Given the description of an element on the screen output the (x, y) to click on. 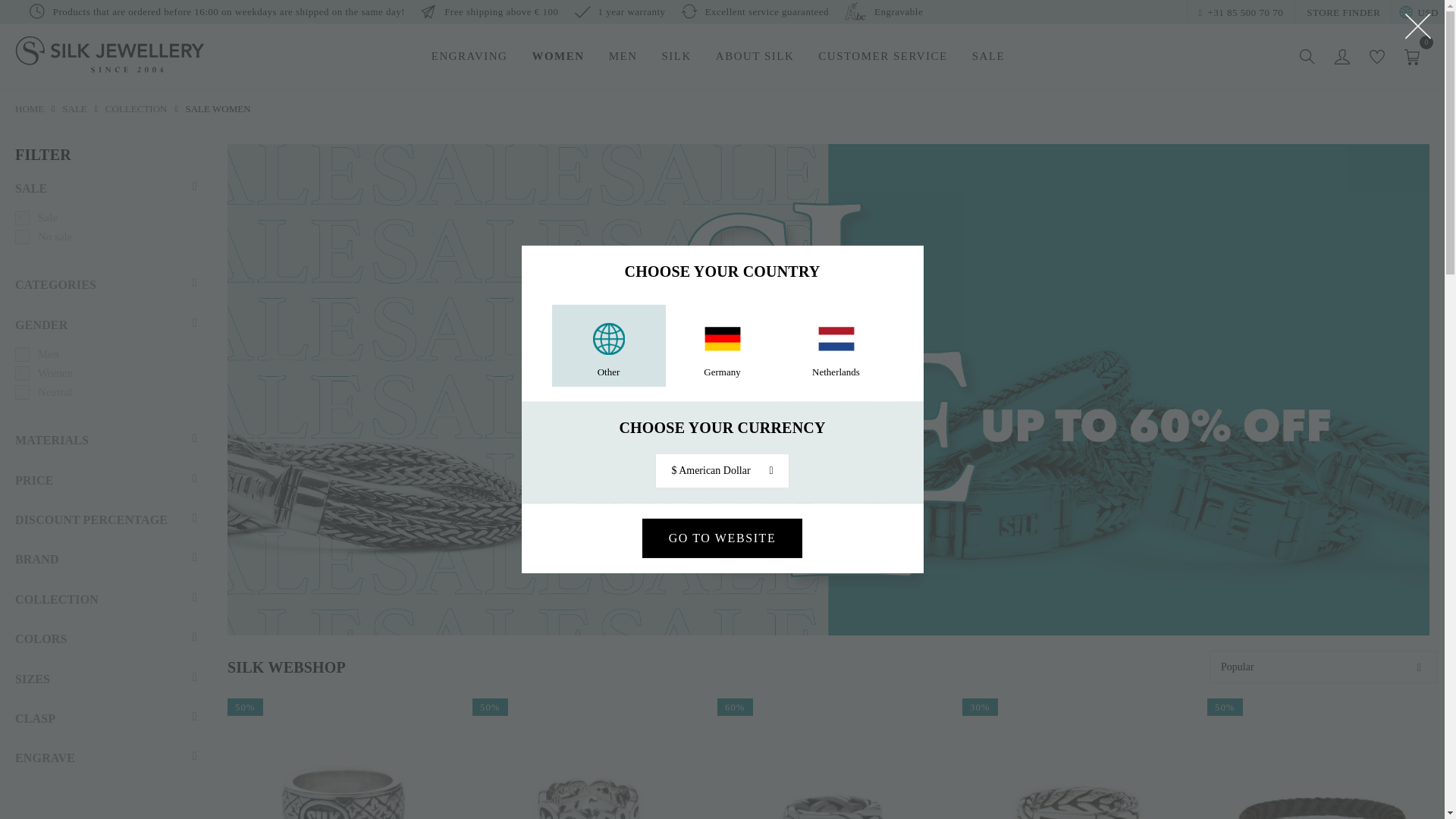
GENERAL (485, 99)
GO TO WEBSITE (722, 537)
STORE FINDER (1342, 11)
ENGRAVING (469, 66)
WOMEN (557, 66)
ENGRAVING (729, 99)
